Given the description of an element on the screen output the (x, y) to click on. 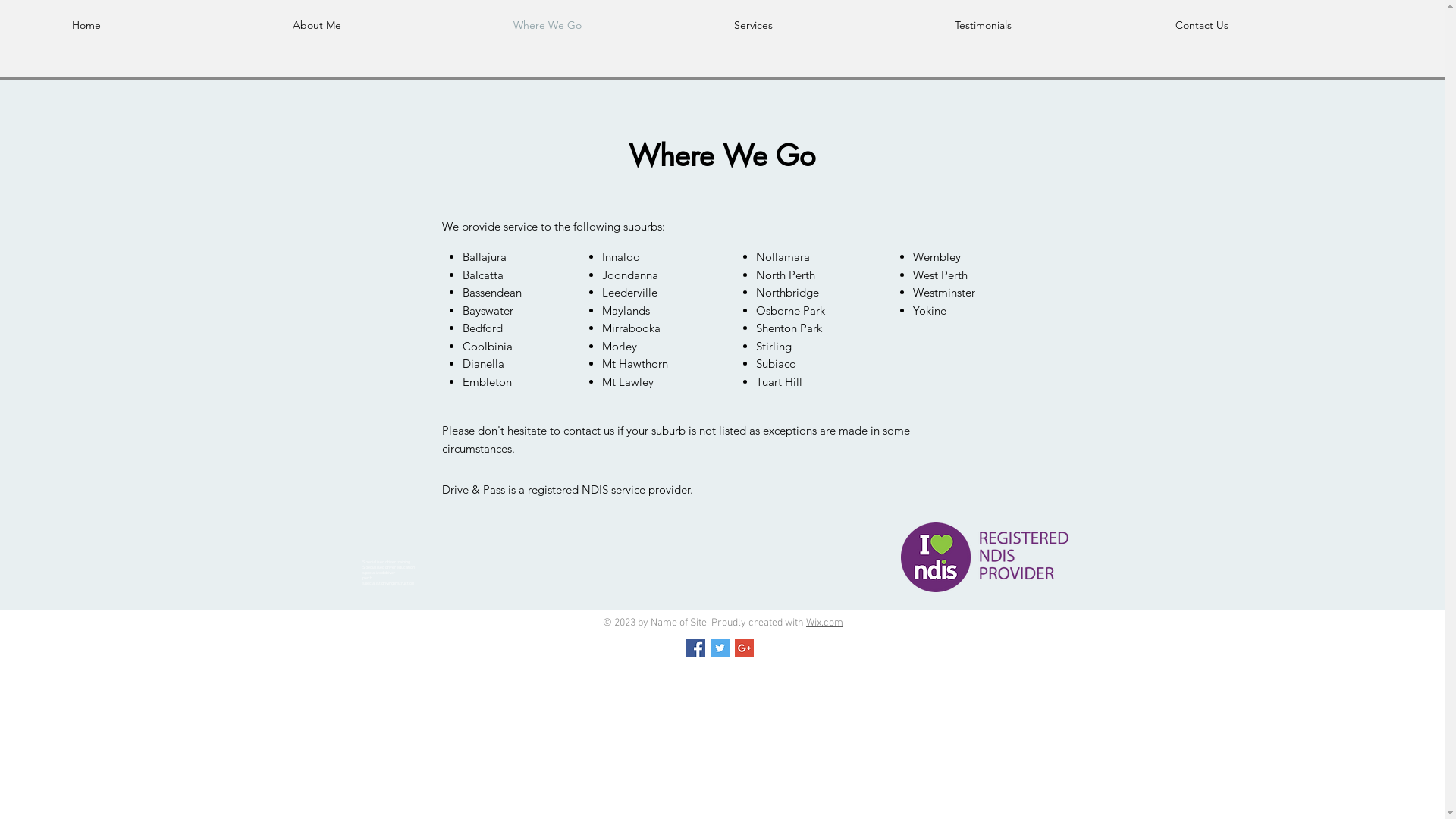
About Me Element type: text (391, 24)
Services Element type: text (832, 24)
Testimonials Element type: text (1053, 24)
Contact Us Element type: text (1273, 24)
Home Element type: text (170, 24)
Where We Go Element type: text (612, 24)
Wix.com Element type: text (824, 622)
